Given the description of an element on the screen output the (x, y) to click on. 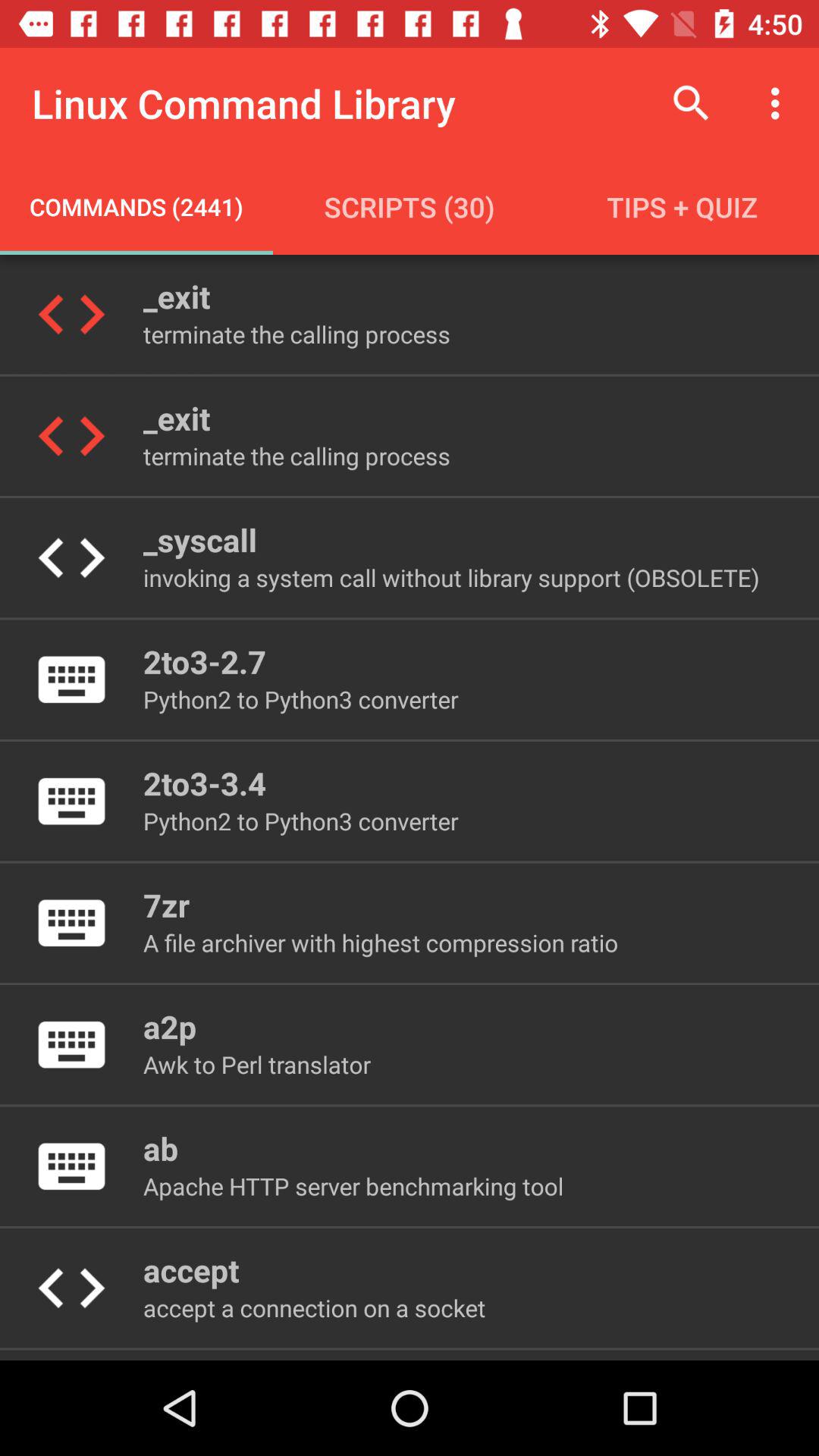
launch item above a file archiver item (166, 904)
